Given the description of an element on the screen output the (x, y) to click on. 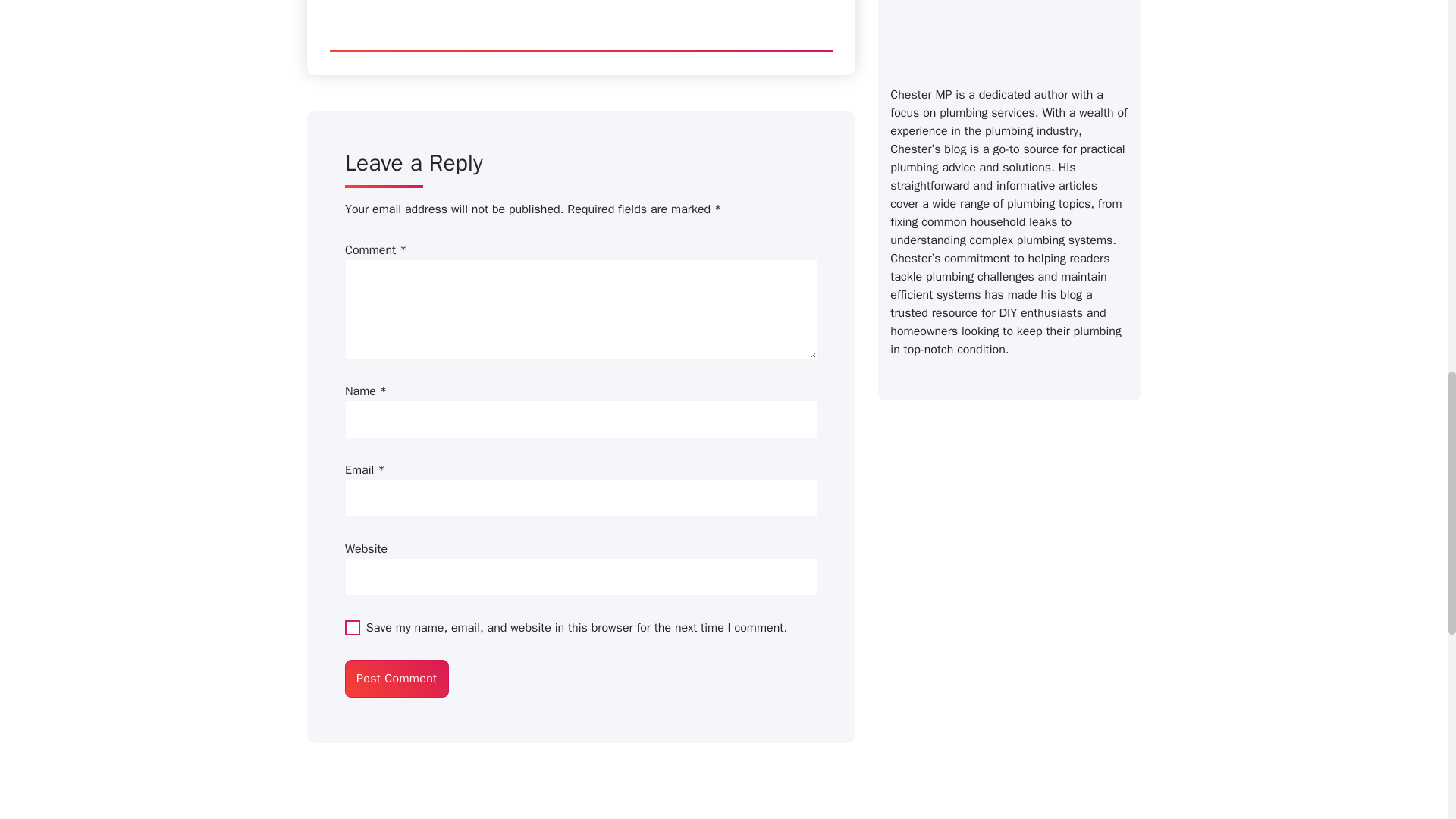
yes (352, 627)
Post Comment (396, 678)
Post Comment (396, 678)
